Given the description of an element on the screen output the (x, y) to click on. 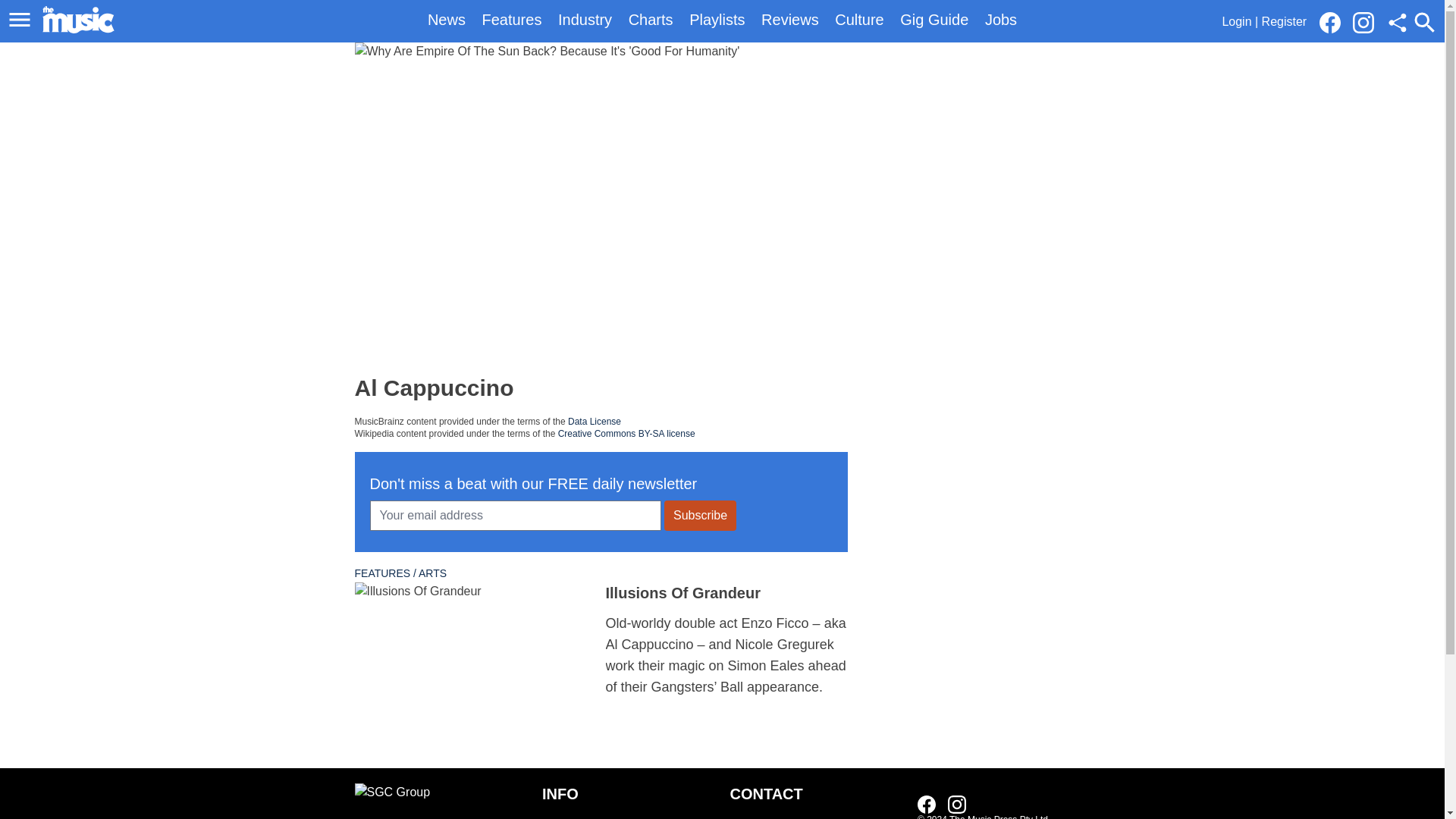
Culture (858, 19)
Gig Guide (933, 19)
Open the main menu (19, 19)
Link to our Instagram (1367, 21)
Link to our Instagram (1363, 22)
Creative Commons BY-SA license (626, 433)
Share this page (1397, 22)
Advertising and Partnership Enquiries (815, 816)
Share this page (1397, 22)
Industry (584, 19)
Reviews (789, 19)
Jobs (1000, 19)
Features (511, 19)
Charts (650, 19)
About Us (627, 816)
